Given the description of an element on the screen output the (x, y) to click on. 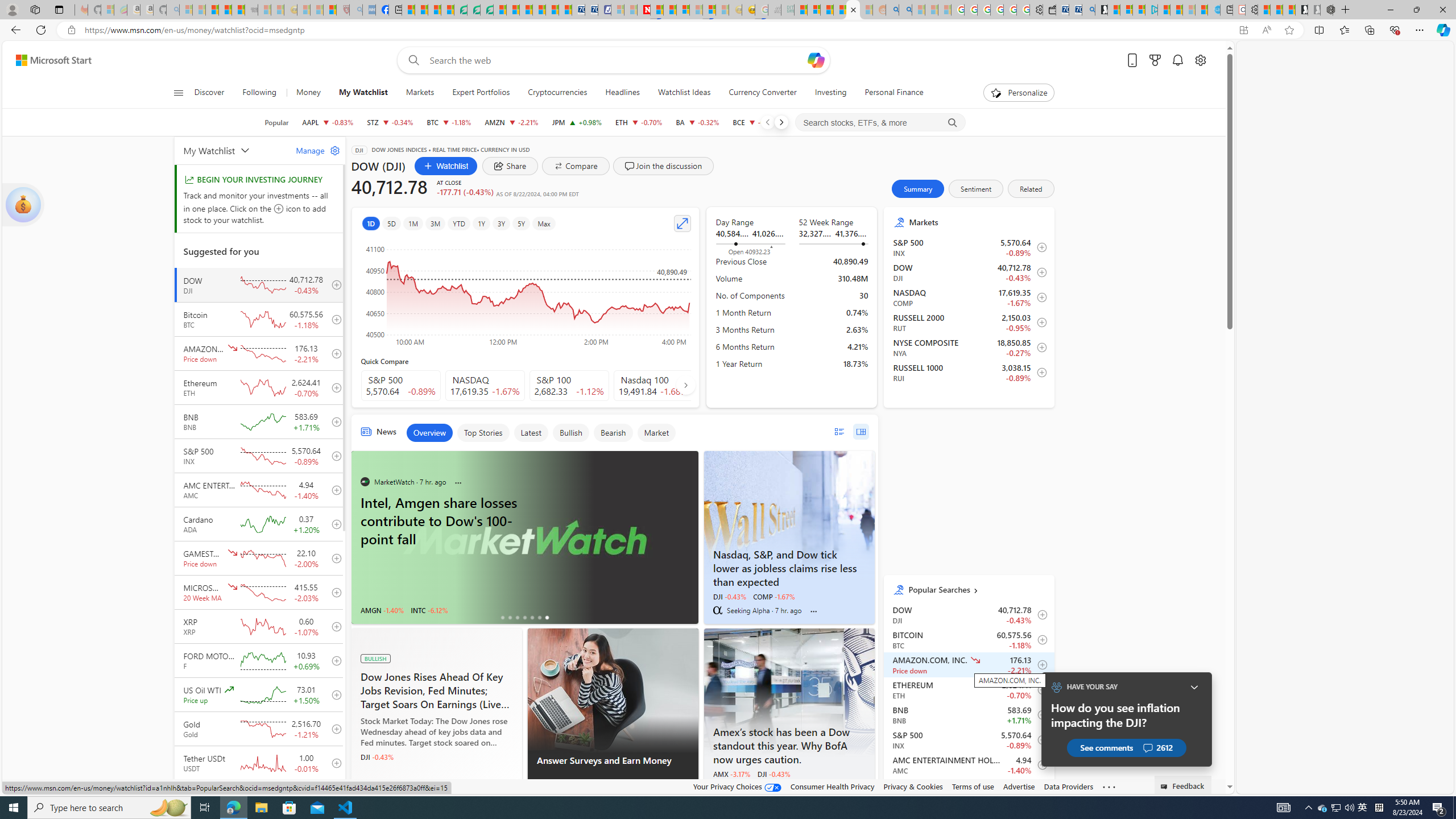
AutomationID: finance_carousel_navi_right (685, 384)
Currency Converter (762, 92)
Markets (420, 92)
Manage (312, 150)
list layout (839, 431)
AdChoices (689, 789)
ETH Ethereum decrease 2,624.41 -18.32 -0.70% (638, 122)
AMGN -1.40% (381, 610)
Skip to footer (46, 59)
